Given the description of an element on the screen output the (x, y) to click on. 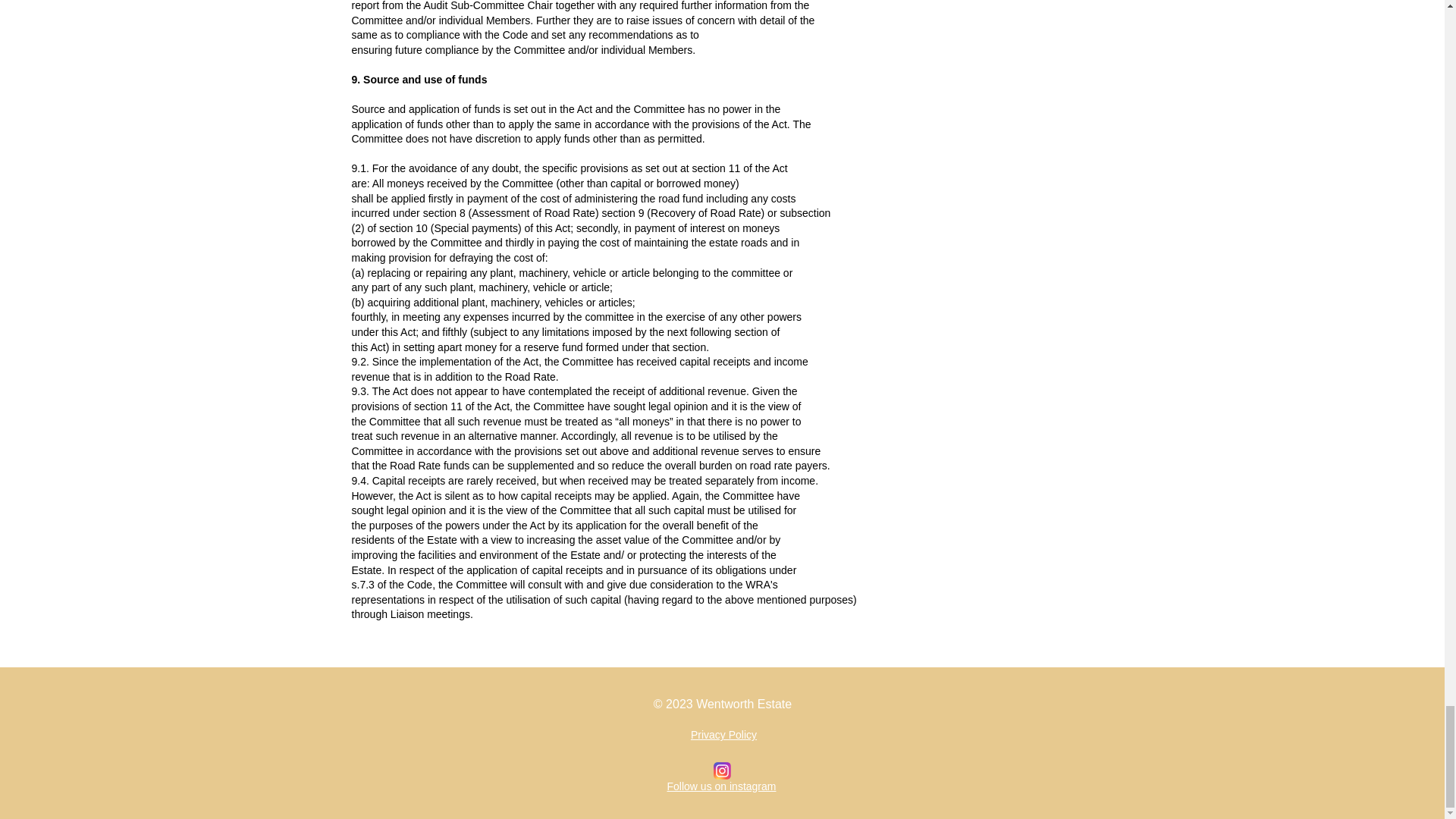
Follow us on instagram (721, 786)
Privacy Policy (723, 734)
